Given the description of an element on the screen output the (x, y) to click on. 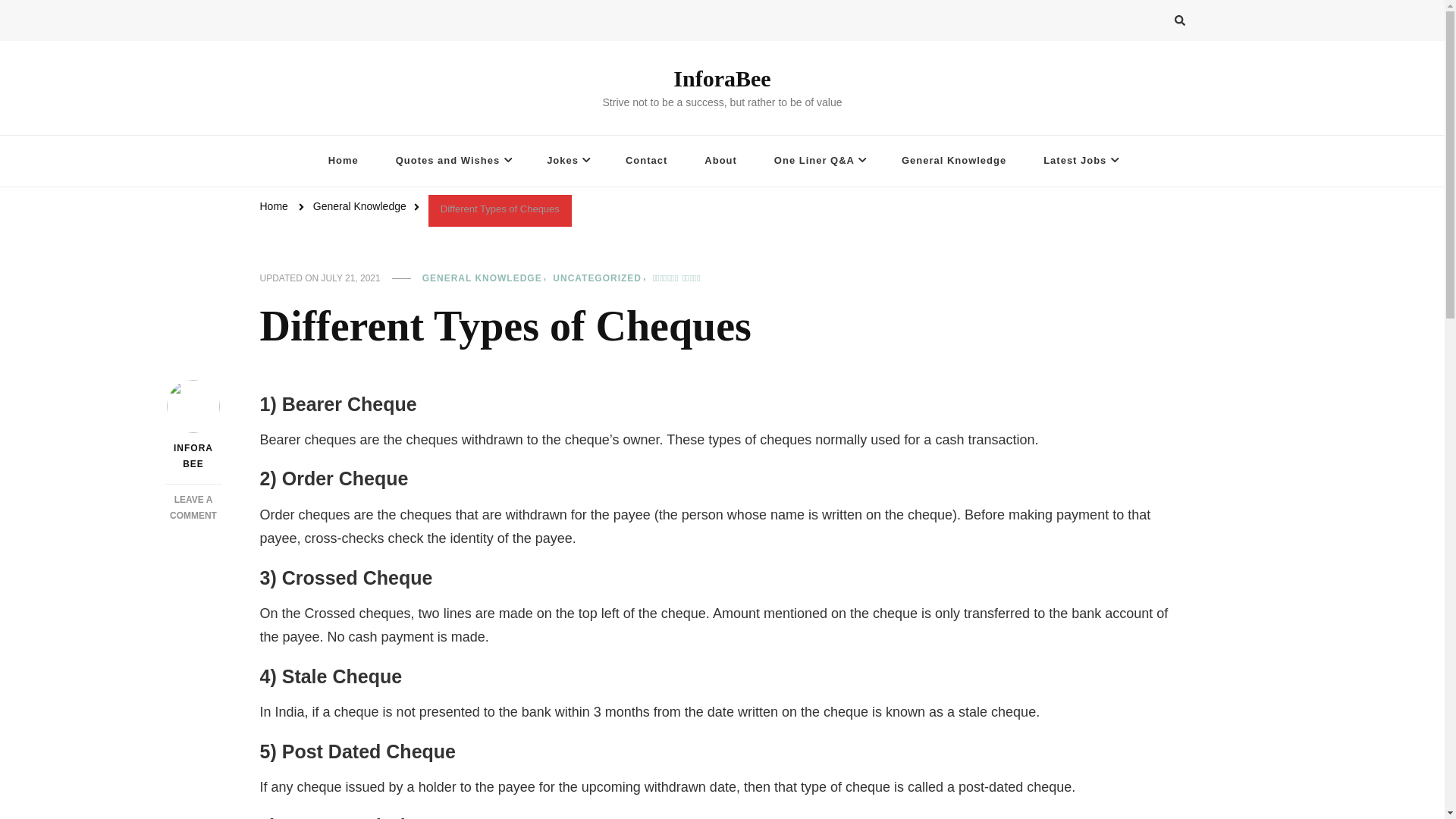
Jokes (567, 160)
GENERAL KNOWLEDGE (486, 278)
Different Types of Cheques (500, 209)
General Knowledge (954, 160)
JULY 21, 2021 (350, 278)
About (720, 160)
Contact (646, 160)
Search (1152, 22)
Quotes and Wishes (451, 160)
Latest Jobs (1079, 160)
Home (193, 507)
InforaBee (343, 160)
General Knowledge (721, 78)
Home (359, 207)
